Given the description of an element on the screen output the (x, y) to click on. 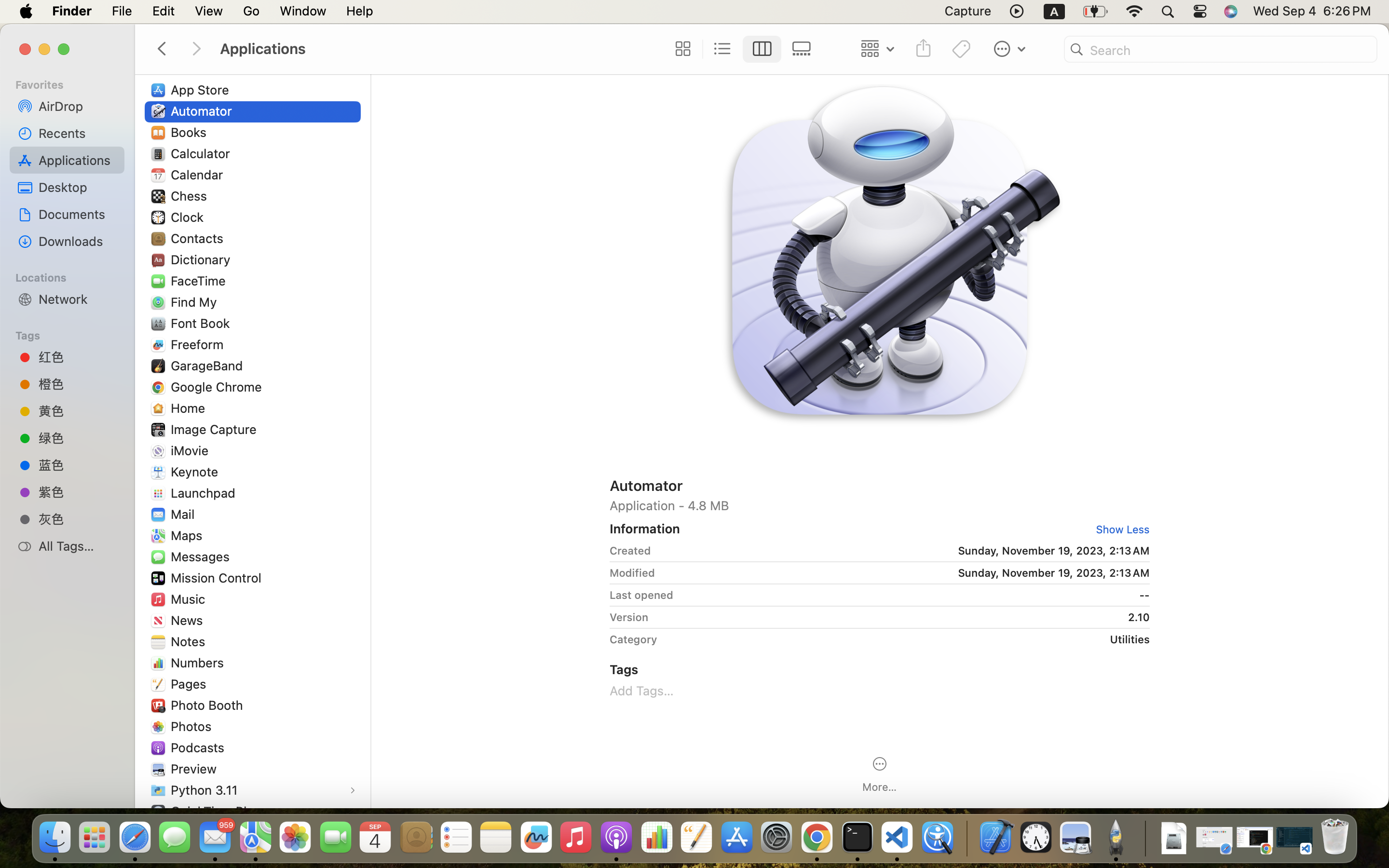
Photo Booth Element type: AXTextField (208, 704)
Automator Element type: AXTextField (203, 110)
GarageBand Element type: AXTextField (208, 365)
Documents Element type: AXStaticText (77, 213)
0 Element type: AXRadioButton (680, 48)
